Given the description of an element on the screen output the (x, y) to click on. 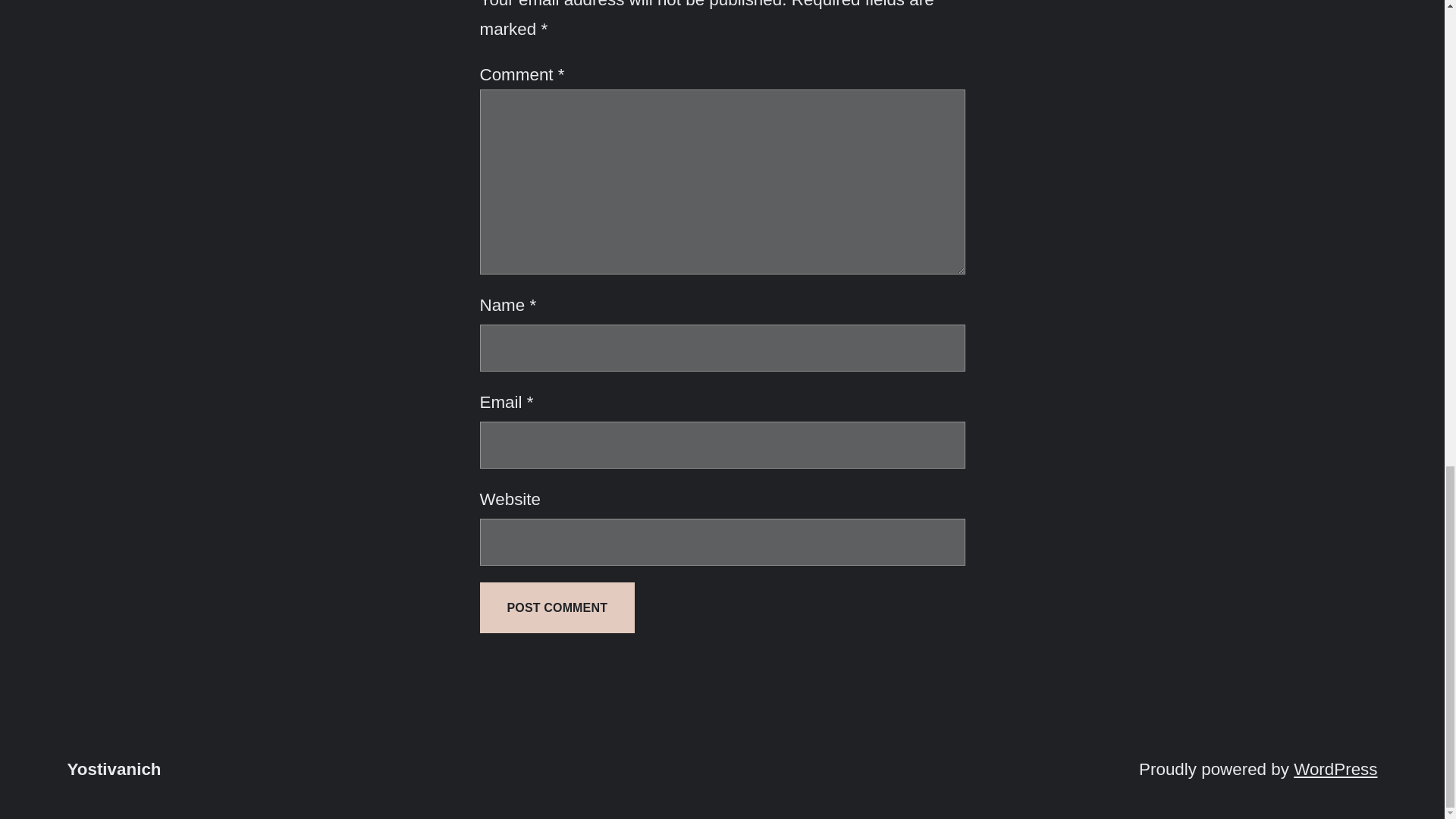
Yostivanich (113, 769)
WordPress (1335, 769)
Post Comment (556, 607)
Post Comment (556, 607)
